Given the description of an element on the screen output the (x, y) to click on. 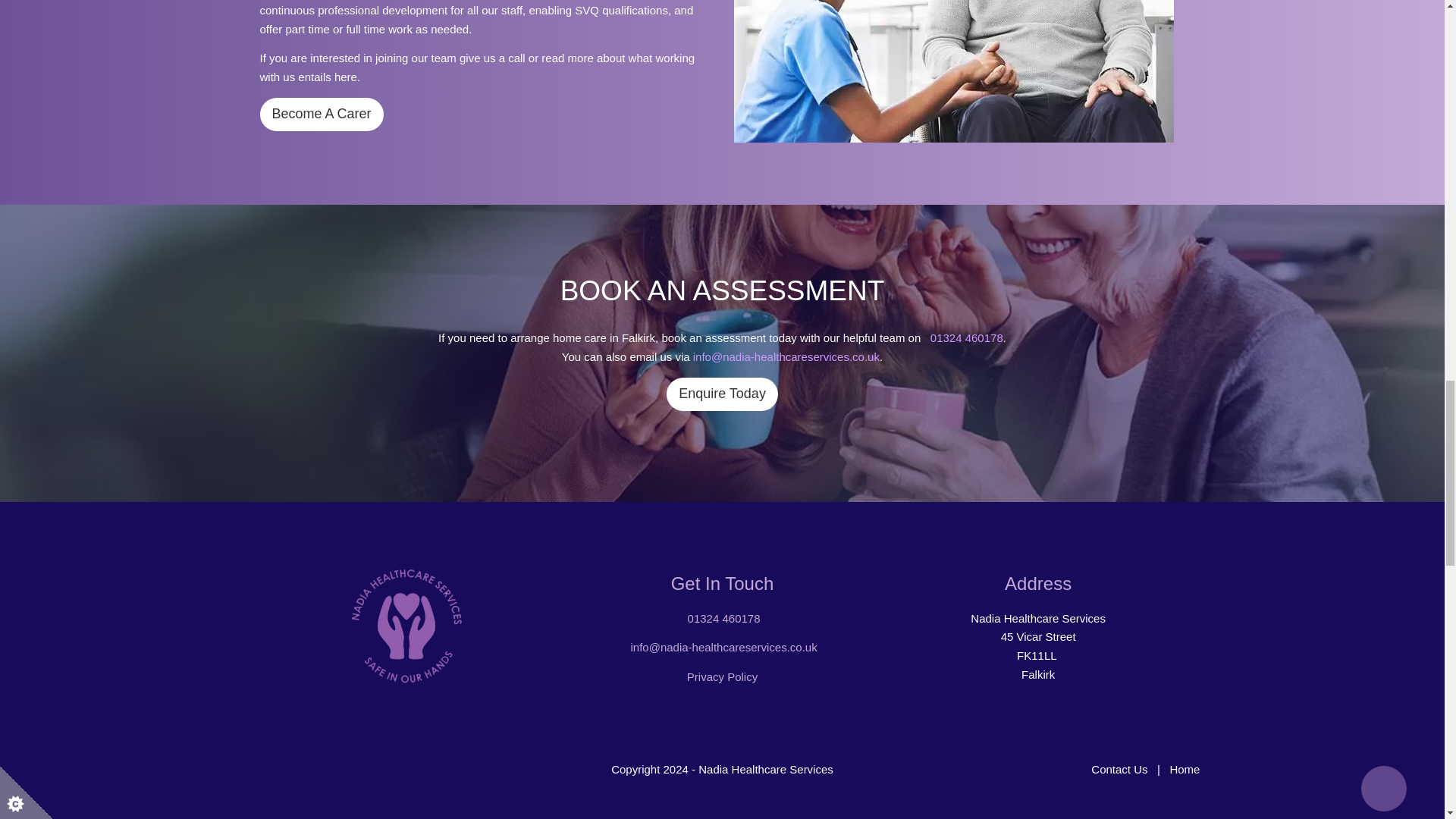
Privacy Policy (722, 676)
Become A Carer (320, 114)
Enquire Today (721, 394)
01324 460178 (723, 617)
01324 460178 (966, 337)
